Given the description of an element on the screen output the (x, y) to click on. 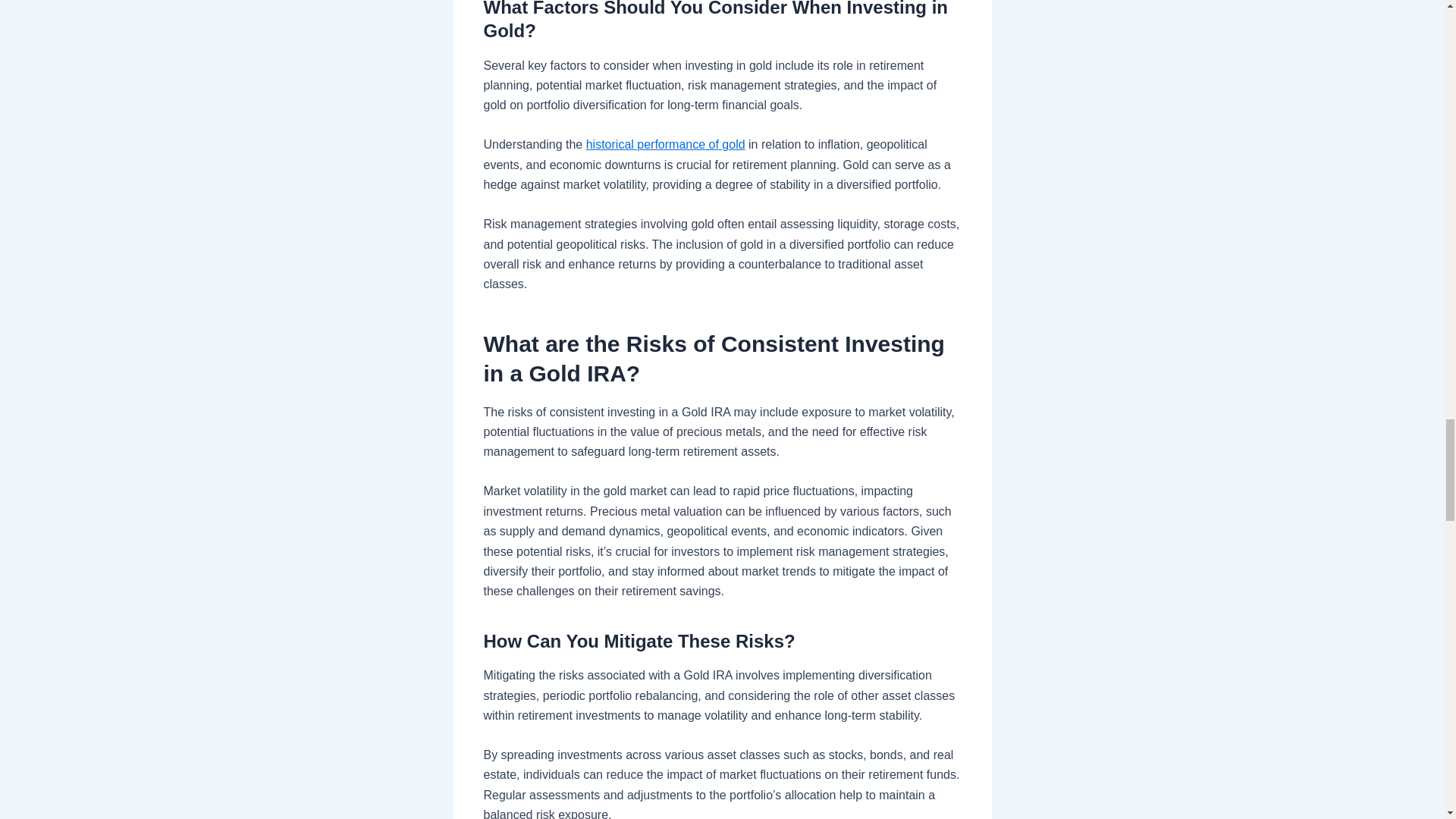
historical performance of gold (665, 144)
